Given the description of an element on the screen output the (x, y) to click on. 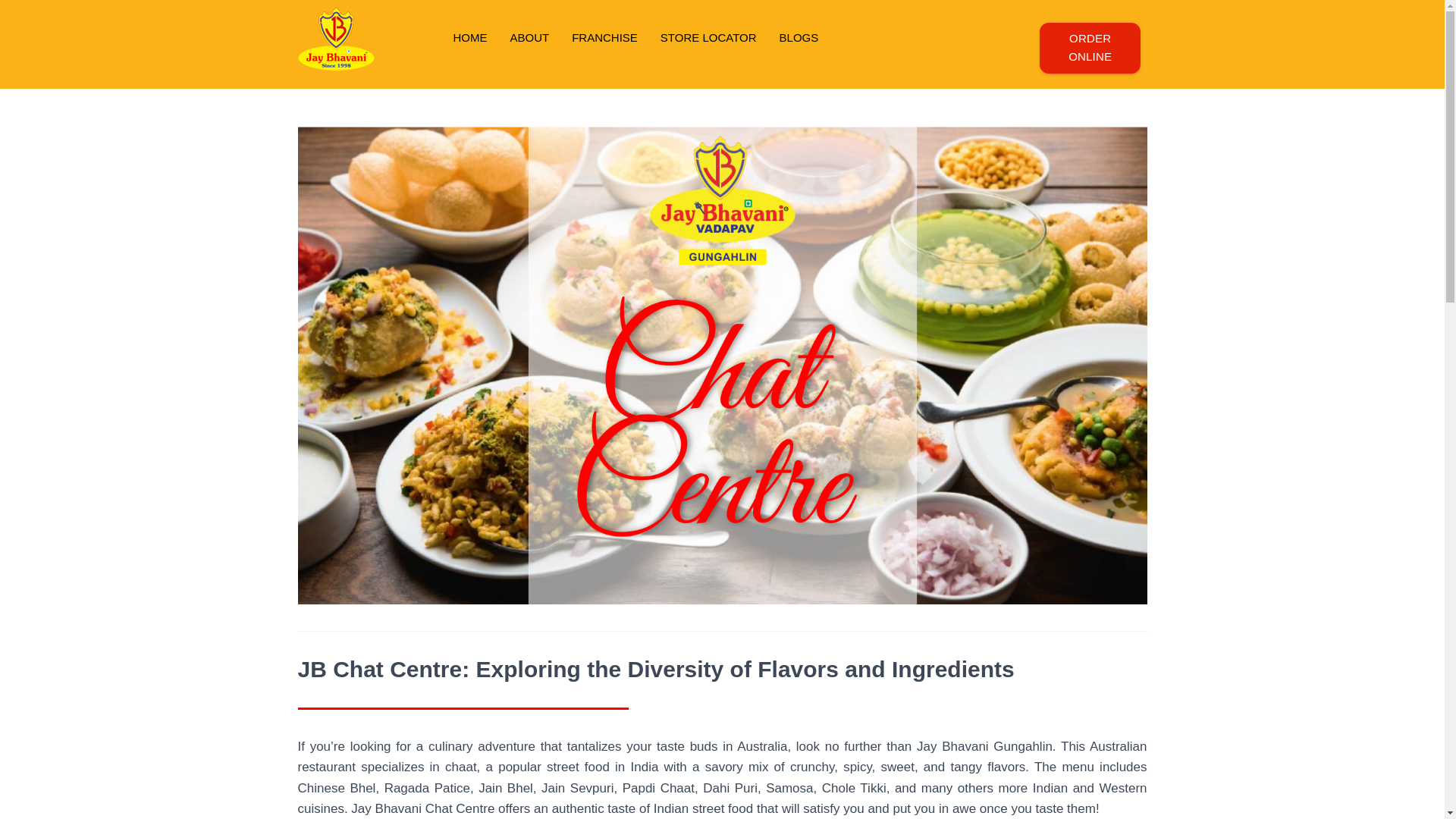
STORE LOCATOR (708, 37)
ABOUT (528, 37)
HOME (469, 37)
FRANCHISE (604, 37)
ORDER ONLINE (1089, 47)
BLOGS (798, 37)
